Given the description of an element on the screen output the (x, y) to click on. 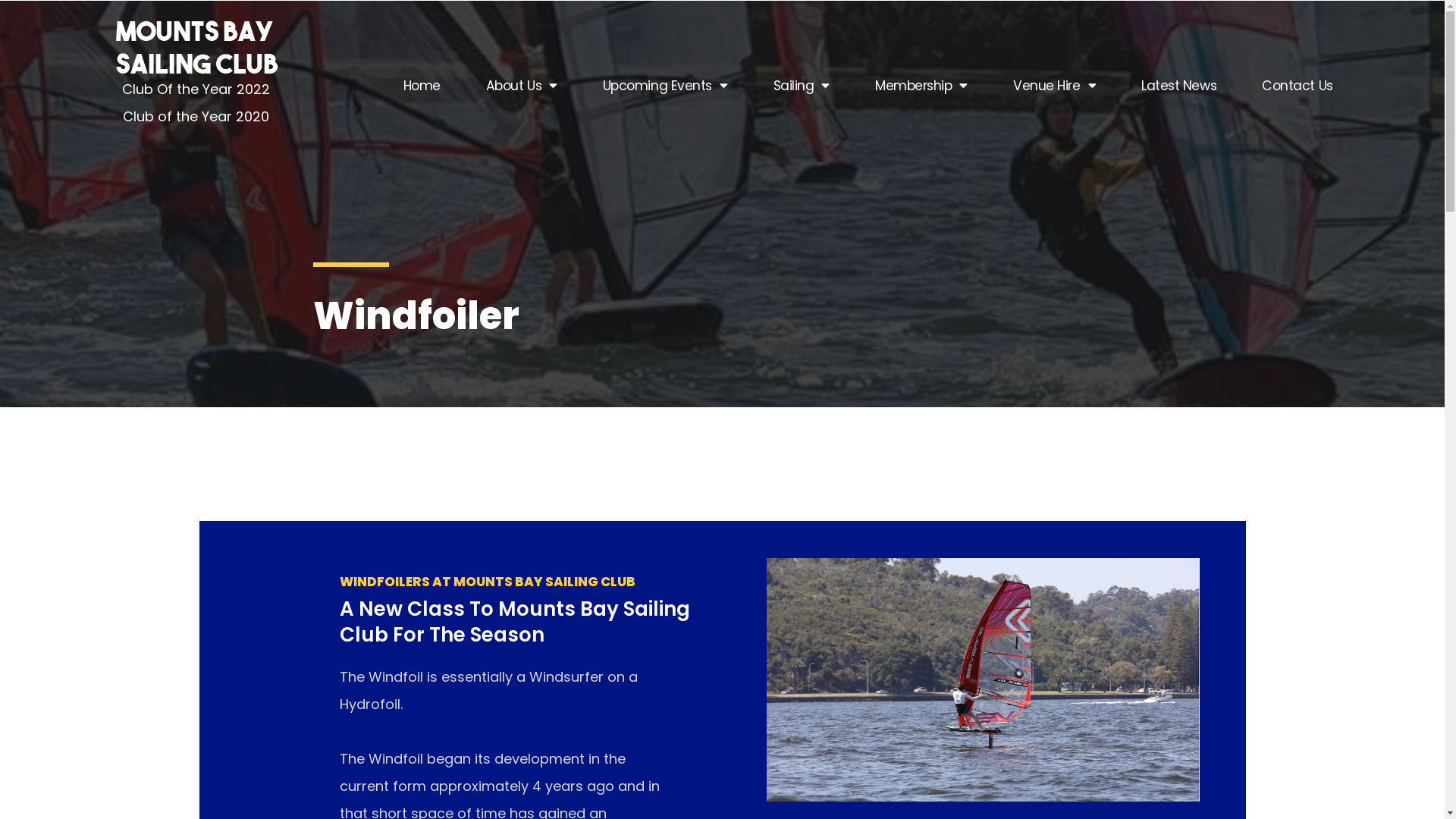
Sailing Element type: text (801, 85)
Latest News Element type: text (1178, 85)
Contact Us Element type: text (1297, 85)
Venue Hire Element type: text (1054, 85)
Membership Element type: text (921, 85)
About Us Element type: text (521, 85)
Upcoming Events Element type: text (665, 85)
Home Element type: text (421, 85)
